Given the description of an element on the screen output the (x, y) to click on. 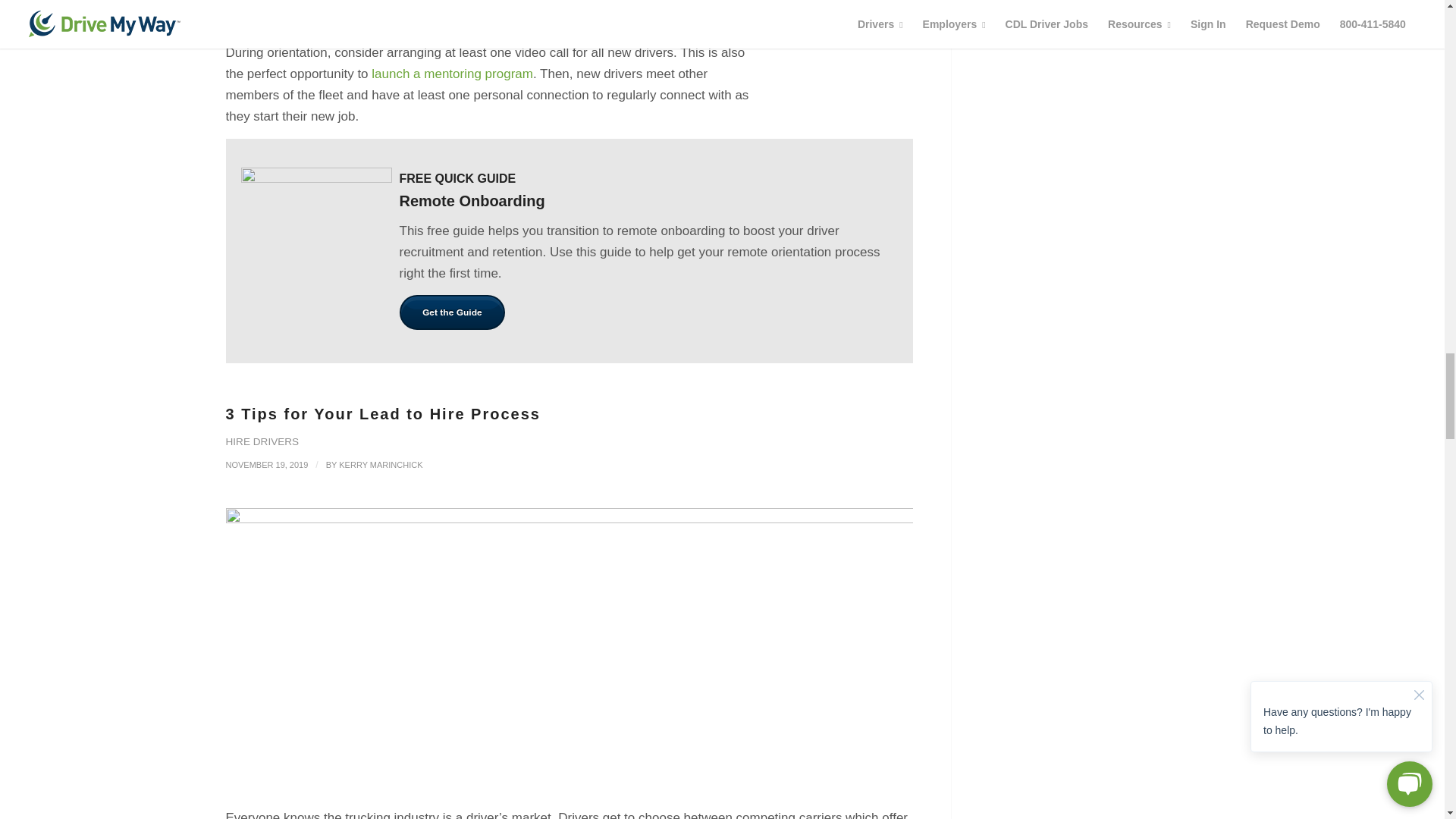
Posts by Kerry Marinchick (380, 464)
Permanent Link: 3 Tips for Your Lead to Hire Process (382, 413)
launch a mentoring program (451, 73)
